Given the description of an element on the screen output the (x, y) to click on. 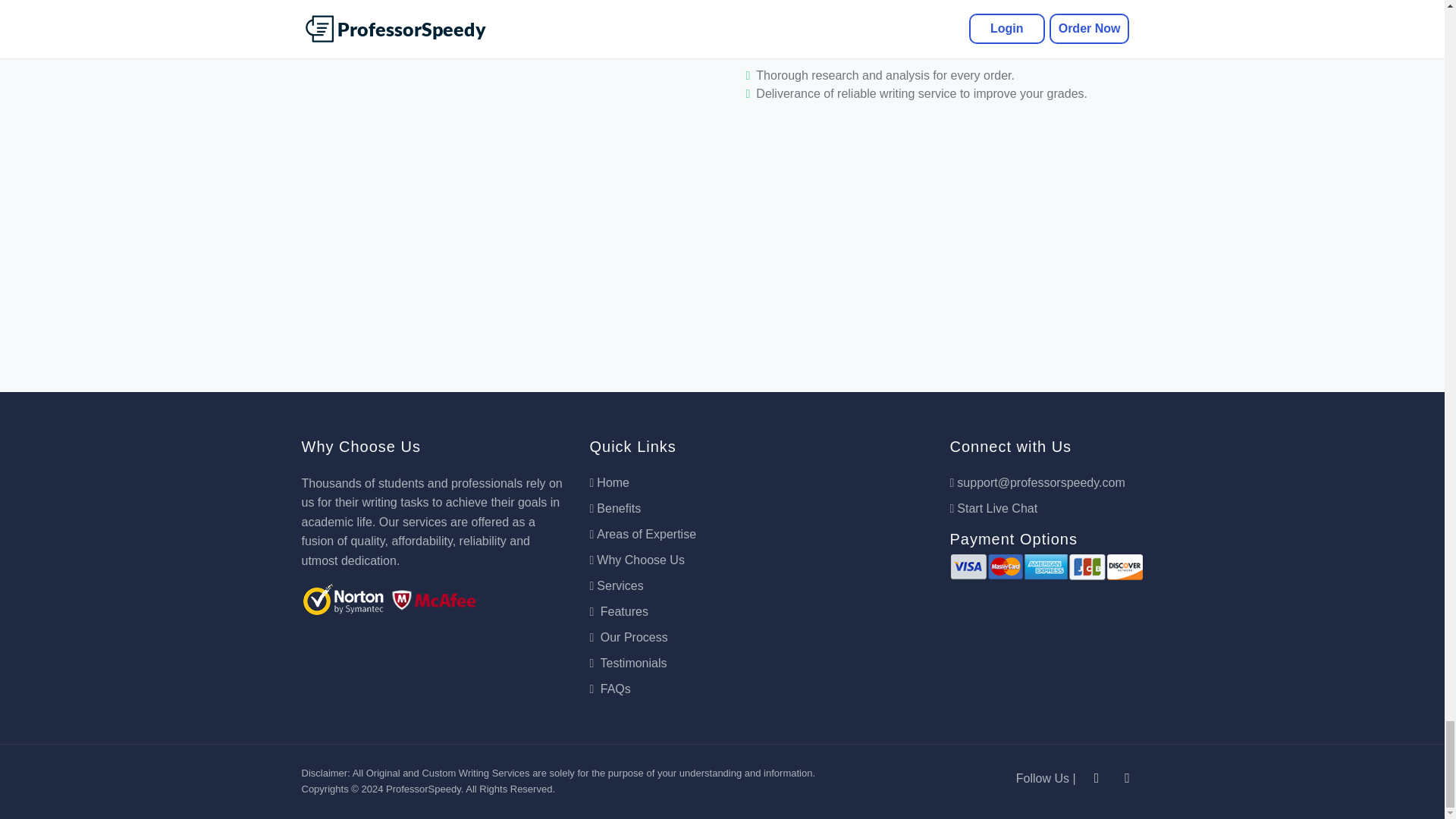
Testimonials (627, 662)
Services (616, 585)
Why Choose Us (636, 559)
Areas of Expertise (642, 534)
Features (618, 611)
Home (608, 481)
FAQs (609, 688)
Benefits (614, 508)
Our Process (627, 636)
Start Live Chat (992, 508)
